Given the description of an element on the screen output the (x, y) to click on. 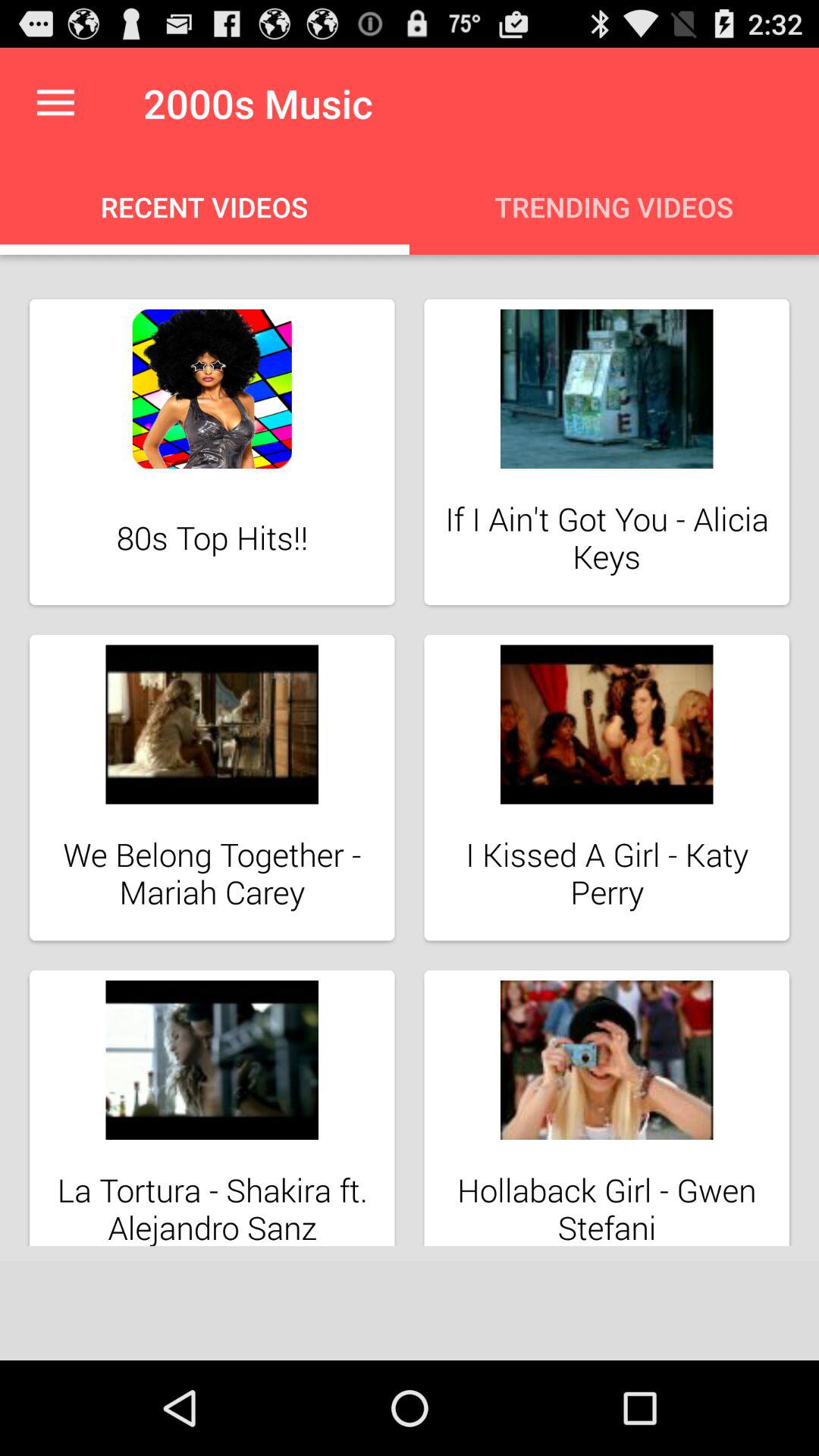
choose icon to the left of 2000s music app (55, 103)
